Given the description of an element on the screen output the (x, y) to click on. 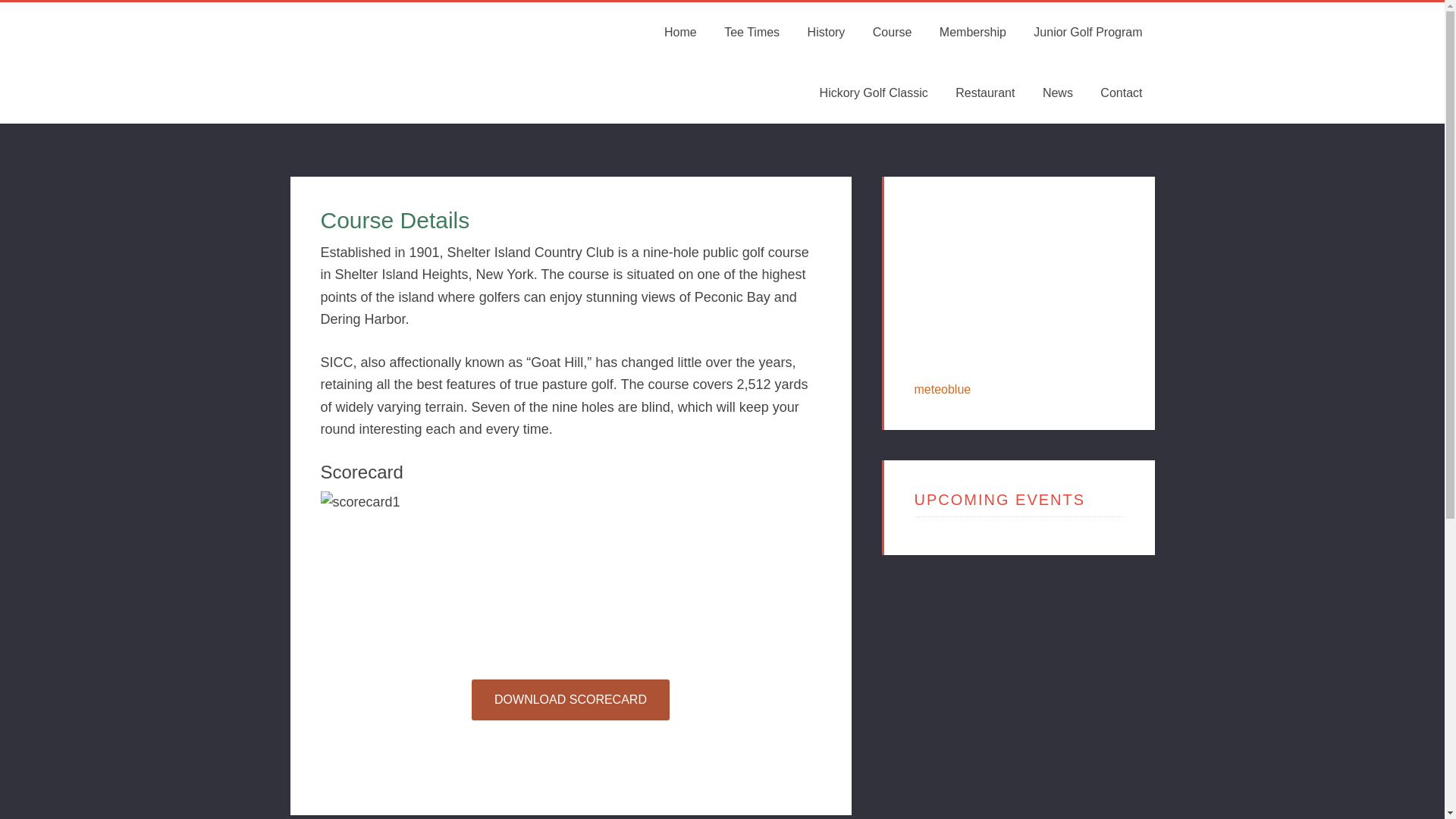
SHELTER ISLAND COUNTRY CLUB (402, 62)
Restaurant (984, 93)
Junior Golf Program (1088, 32)
Contact (1120, 93)
History (825, 32)
Course (892, 32)
DOWNLOAD SCORECARD (570, 699)
Hickory Golf Classic (874, 93)
Tee Times (751, 32)
Membership (972, 32)
meteoblue (942, 389)
News (1057, 93)
Home (680, 32)
